Given the description of an element on the screen output the (x, y) to click on. 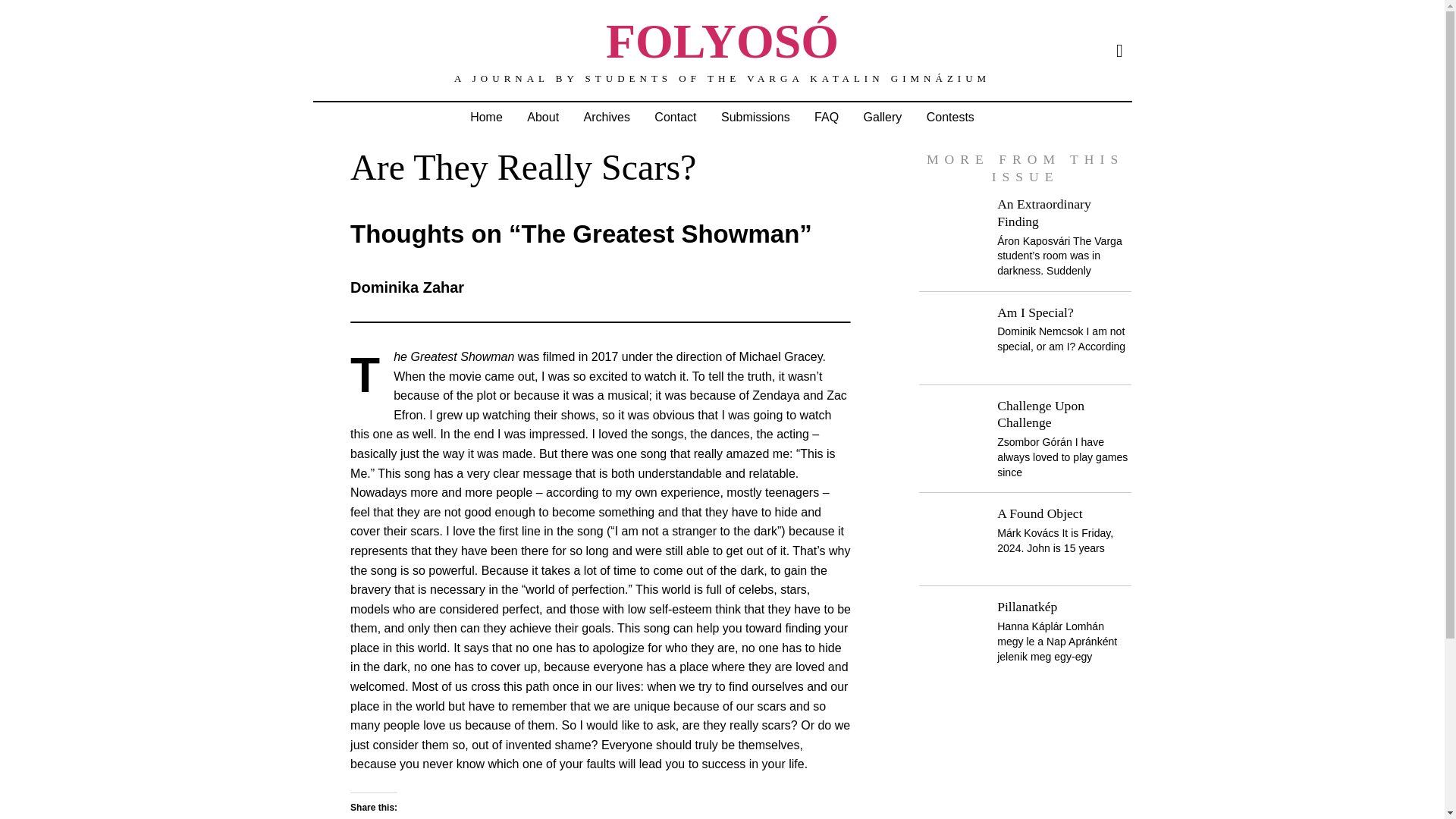
Contests (950, 117)
FAQ (825, 117)
Am I Special? (1035, 312)
Submissions (755, 117)
Archives (606, 117)
Gallery (882, 117)
An Extraordinary Finding (1043, 212)
A Found Object (1039, 513)
About (542, 117)
Challenge Upon Challenge (1040, 414)
